Given the description of an element on the screen output the (x, y) to click on. 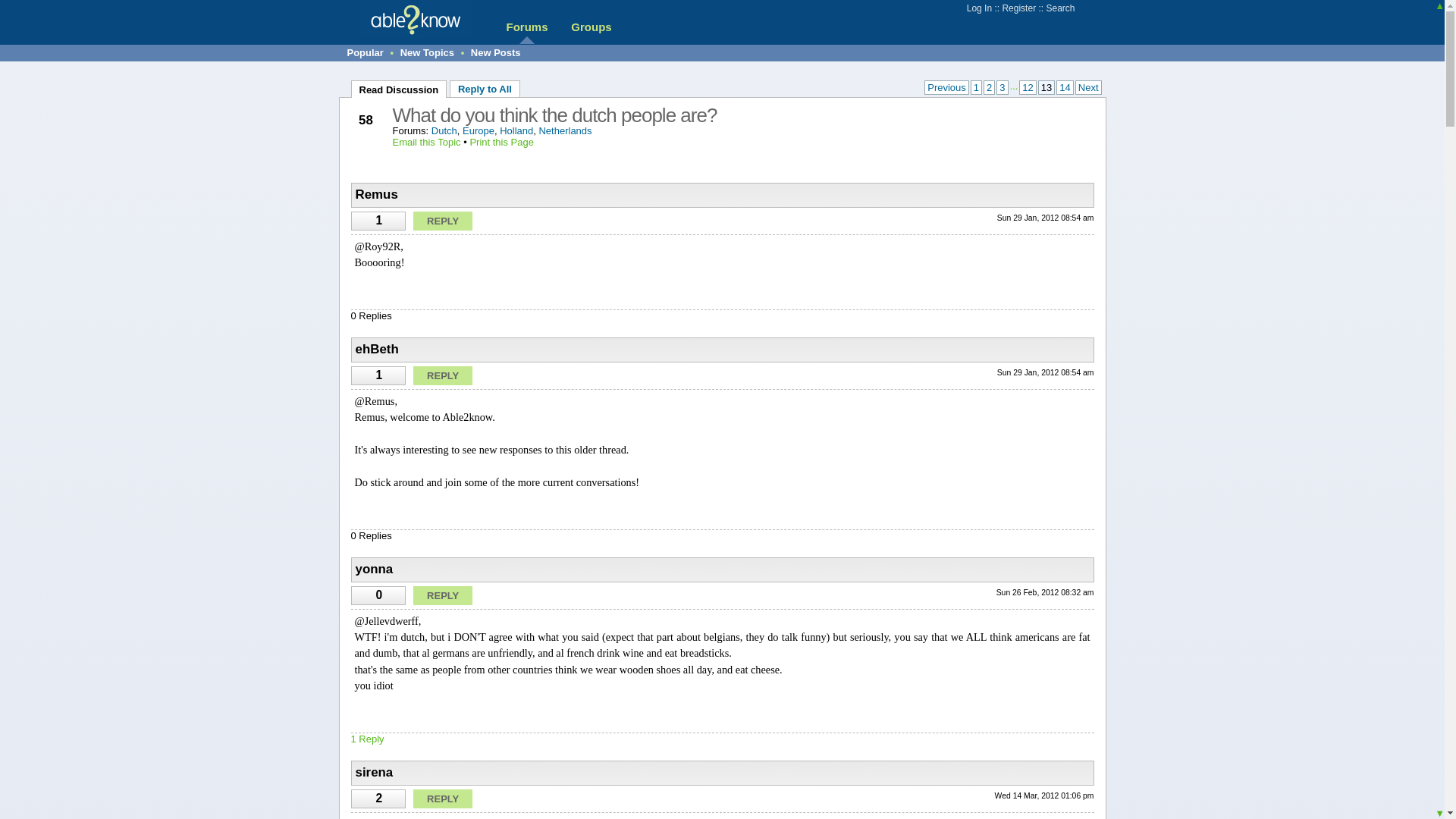
Email this Topic (427, 142)
New Topics (427, 52)
Register (1018, 8)
Previous Page (946, 87)
Page 12 (1027, 87)
Next (1088, 87)
Reply to All (484, 88)
Holland Forum (515, 130)
Dutch (443, 130)
Reply to All (484, 88)
